Given the description of an element on the screen output the (x, y) to click on. 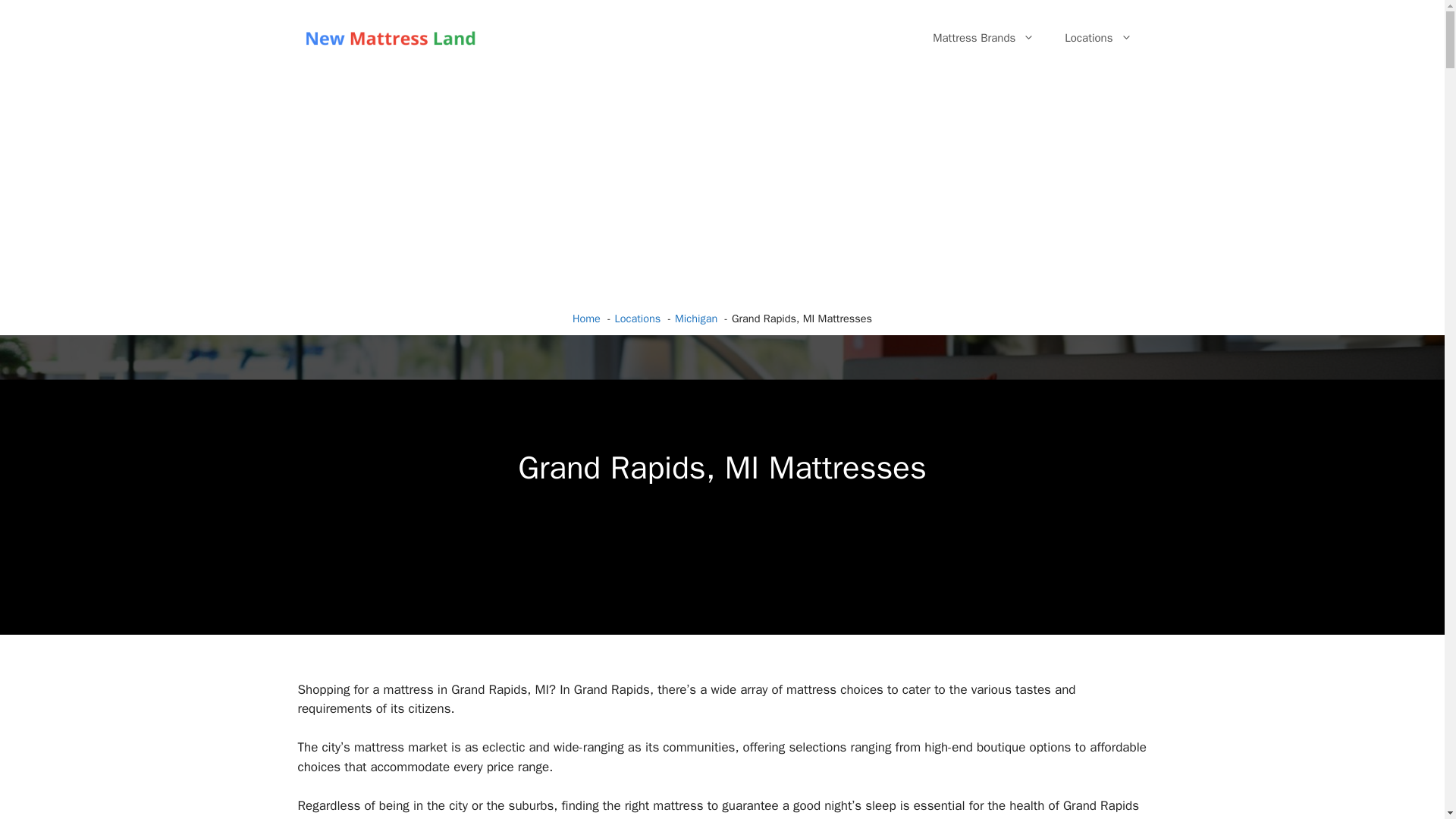
Locations (1098, 37)
Mattress Brands (983, 37)
